Given the description of an element on the screen output the (x, y) to click on. 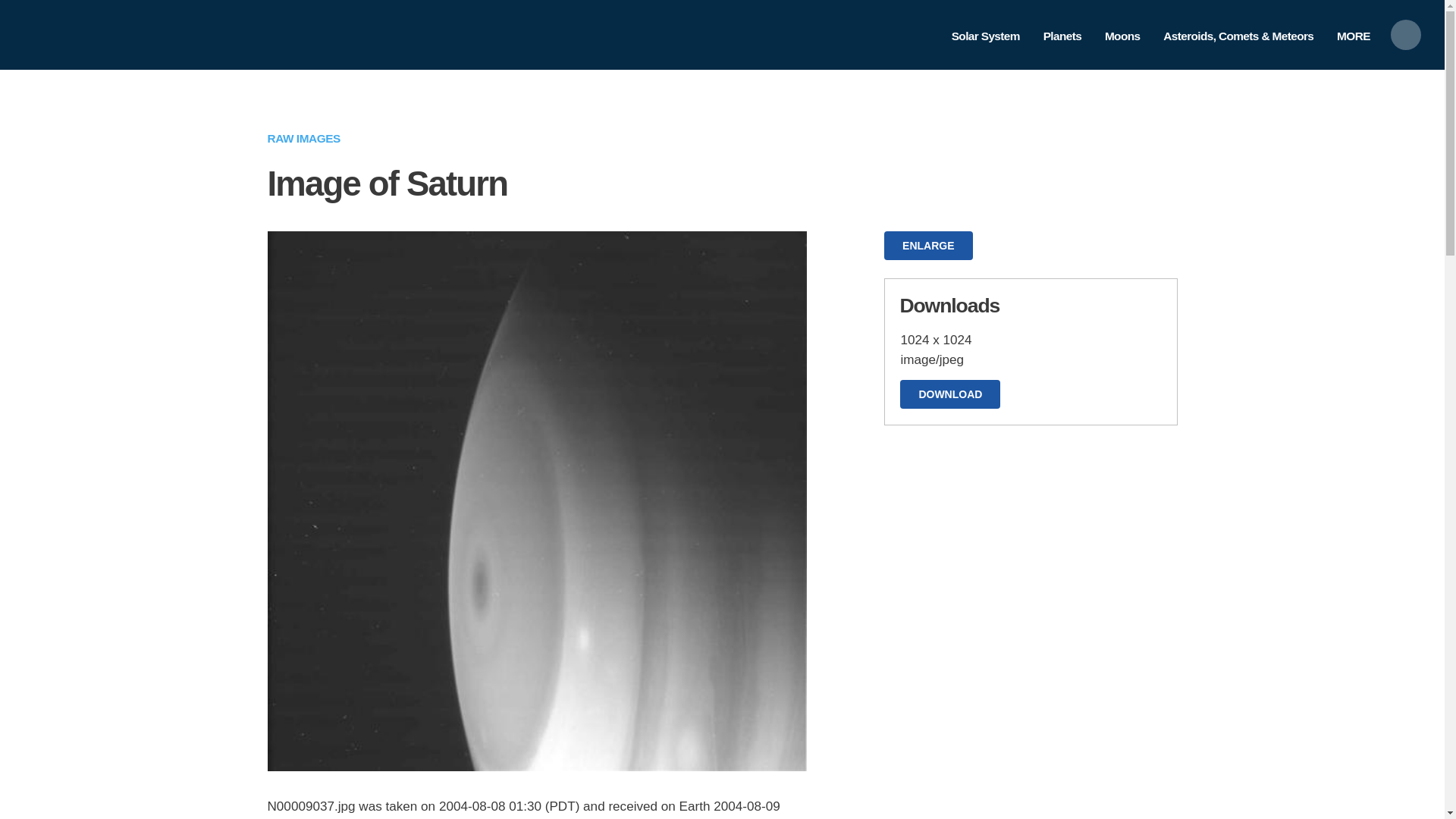
Home (188, 22)
Our Galactic Neighborhood (188, 45)
Solar System Exploration (188, 22)
Home (188, 45)
NASA (57, 33)
Solar System (984, 35)
Planets (1061, 35)
Home (57, 33)
